Given the description of an element on the screen output the (x, y) to click on. 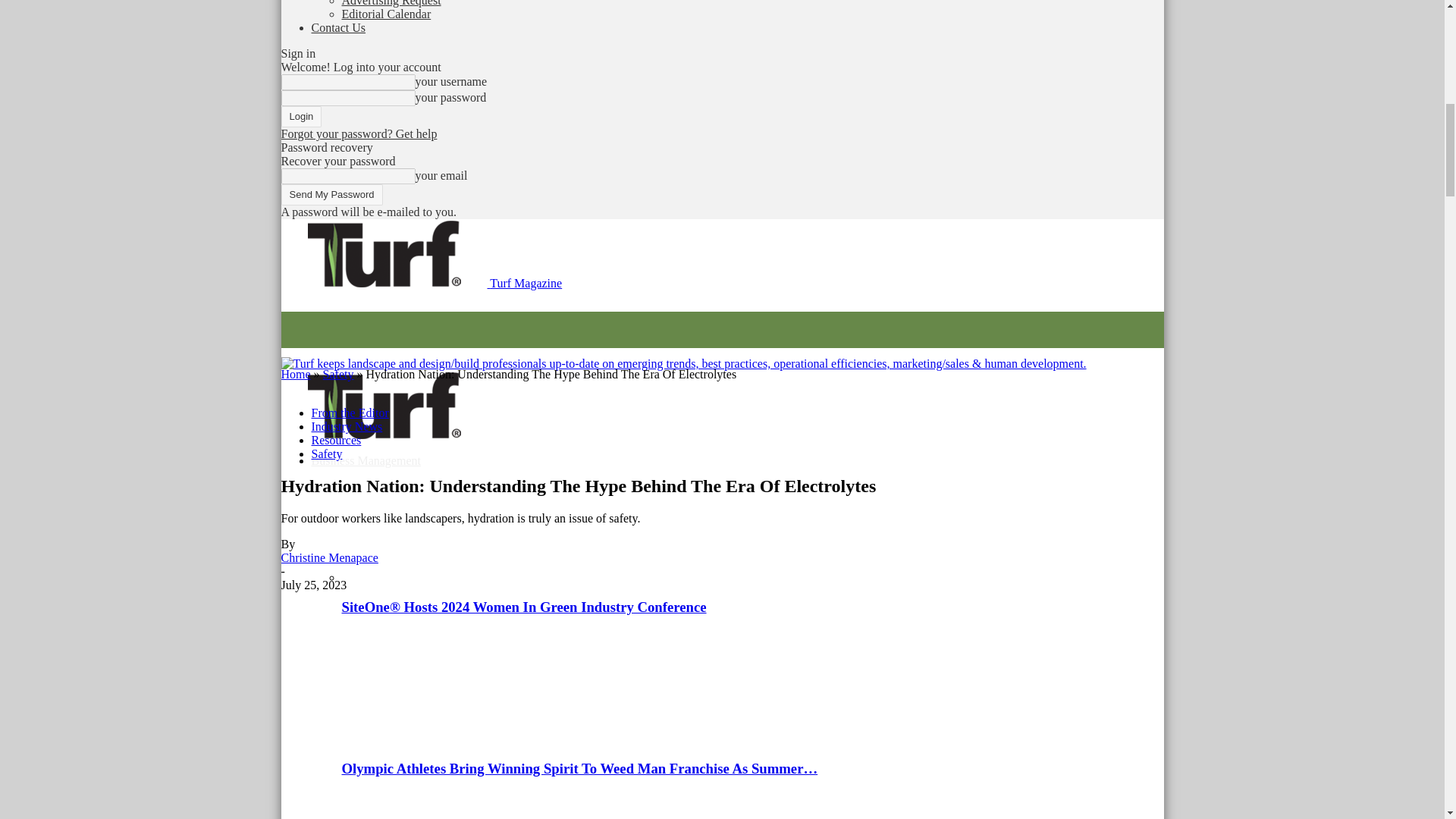
Login (301, 116)
Send My Password (331, 194)
Turf Magazine (383, 253)
Turf Magazine (383, 404)
Turf Magazine (683, 364)
